Given the description of an element on the screen output the (x, y) to click on. 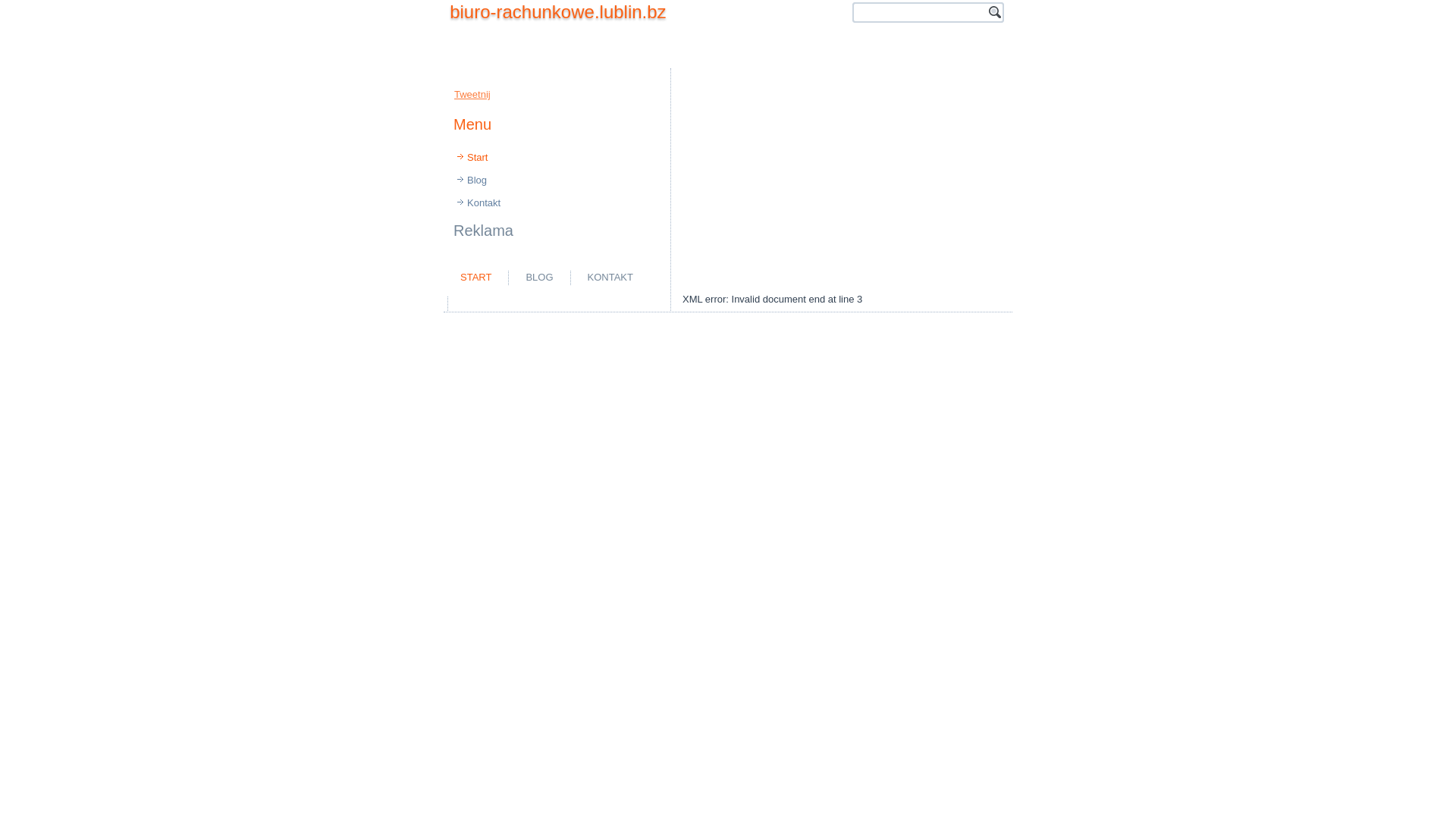
Advertisement Element type: hover (727, 170)
Tweetnij Element type: text (472, 94)
START Element type: text (475, 276)
biuro-rachunkowe.lublin.bz Element type: text (557, 11)
Blog Element type: text (556, 180)
Advertisement Element type: hover (628, 302)
Start Element type: text (556, 157)
Kontakt Element type: text (556, 202)
Advertisement Element type: hover (841, 180)
BLOG Element type: text (538, 276)
KONTAKT Element type: text (610, 276)
